Given the description of an element on the screen output the (x, y) to click on. 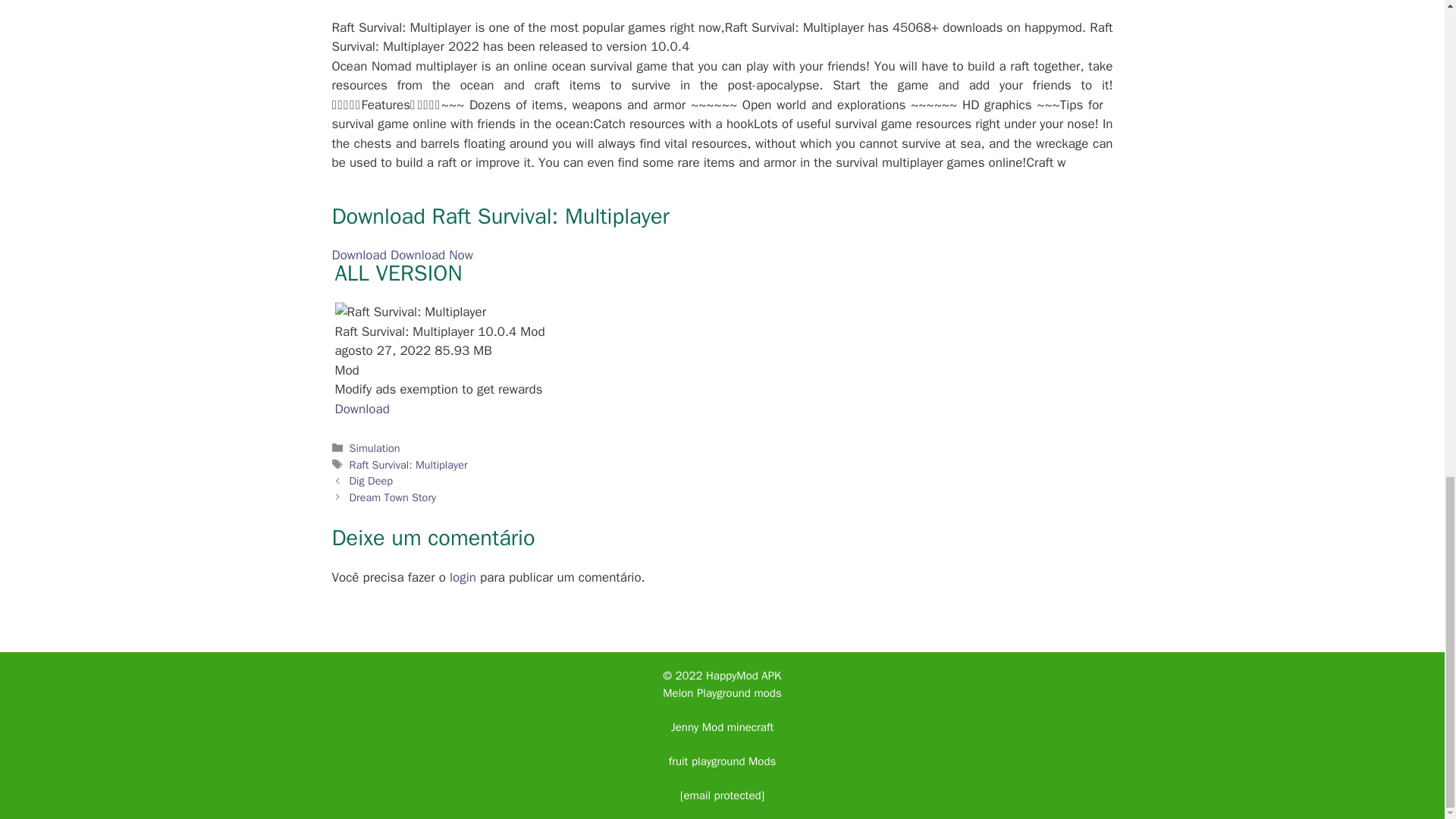
Jenny Mod minecraft (722, 726)
Dig Deep (371, 480)
login (462, 577)
Raft Survival: Multiplayer (408, 464)
Dream Town Story (392, 497)
Download (362, 408)
Melon Playground mods (721, 693)
Raft Survival: Multiplayer 3Happymodapk Free Download (410, 312)
fruit playground Mods (722, 761)
Download Download Now (402, 254)
